Given the description of an element on the screen output the (x, y) to click on. 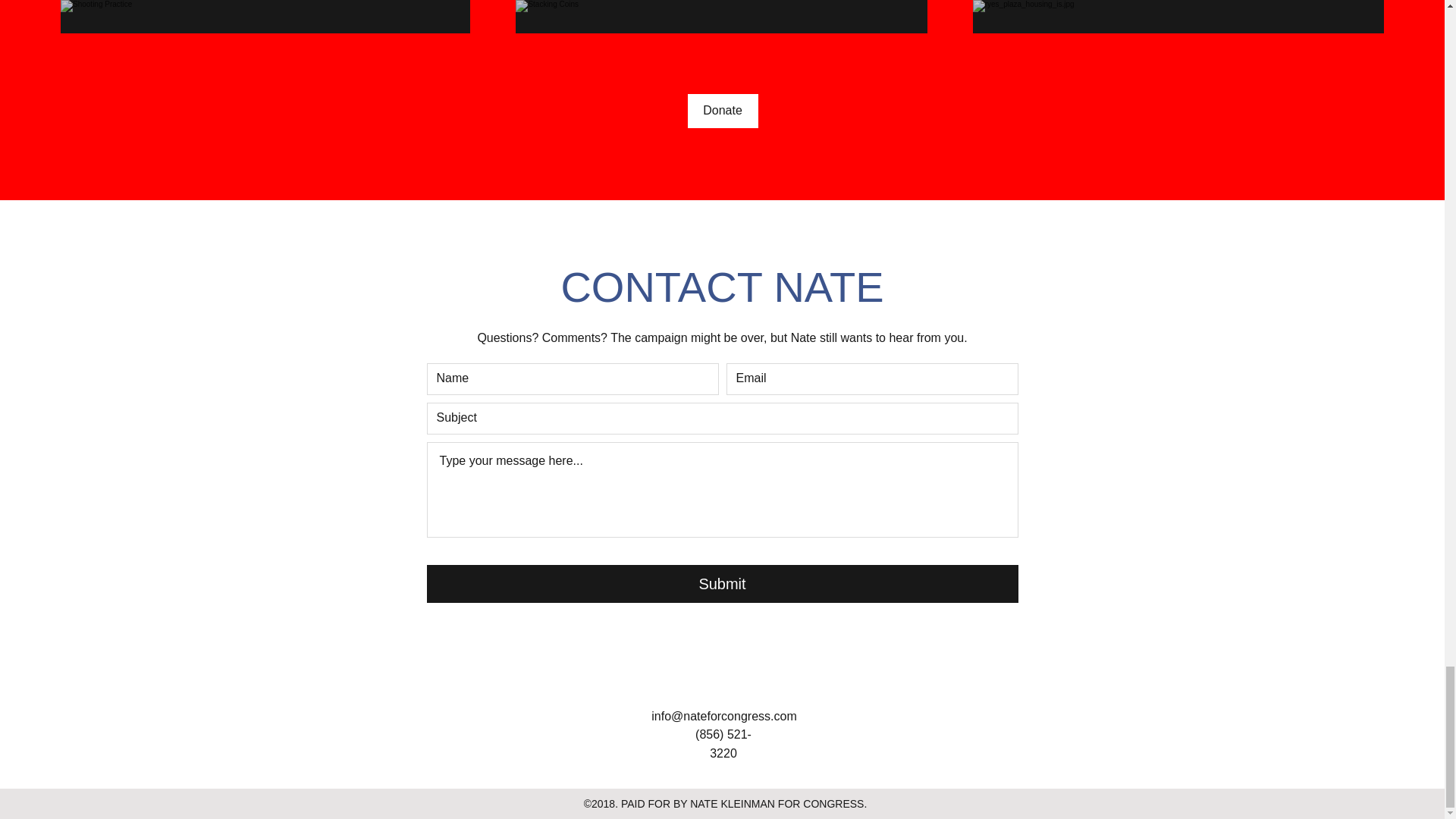
Donate (722, 110)
Submit (721, 583)
